Given the description of an element on the screen output the (x, y) to click on. 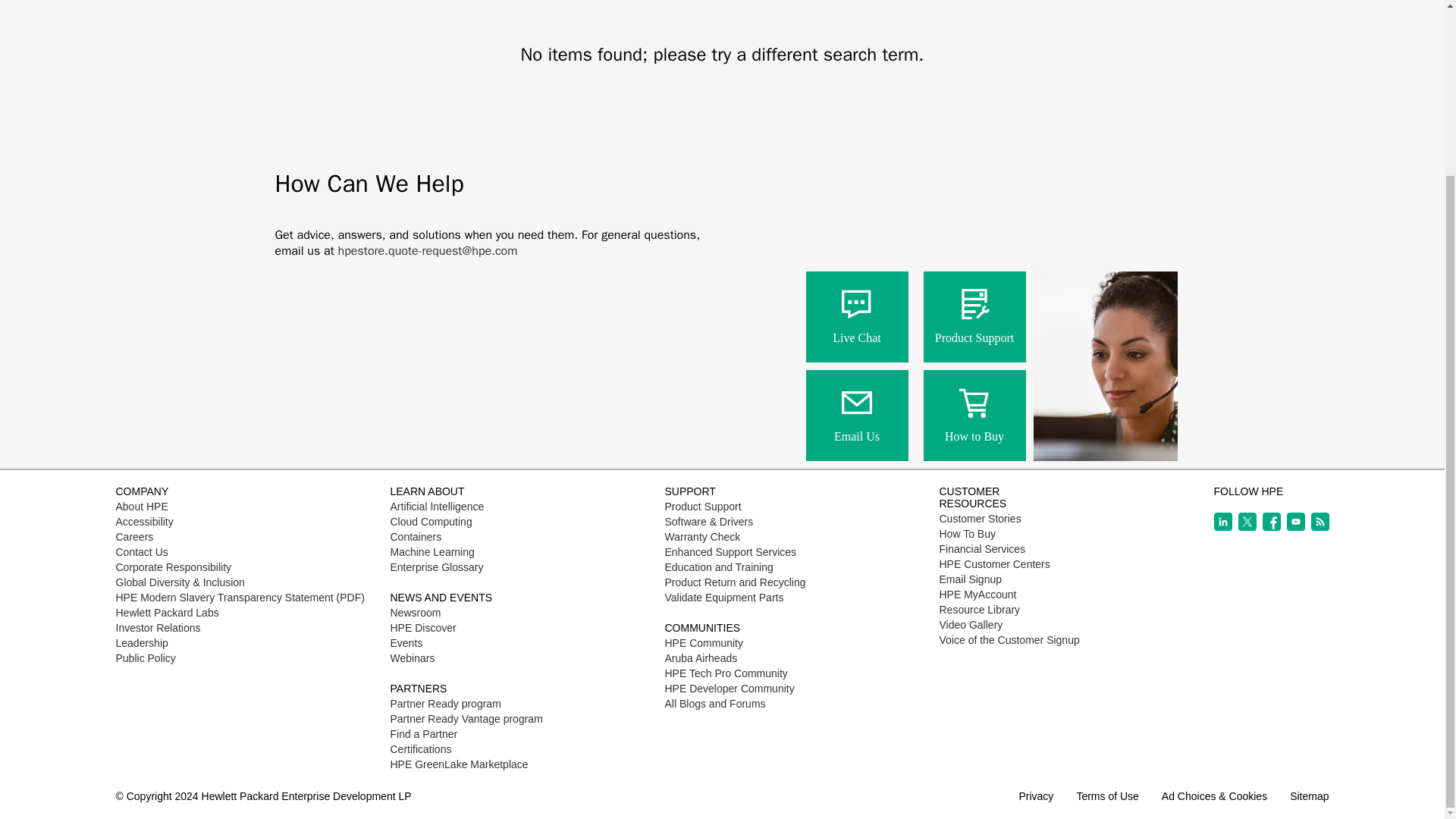
YouTube - new window (1294, 521)
LinkedIn - new window (1221, 521)
HPE RSS Feed - new window (1318, 521)
Facebook - new window (1270, 521)
X - new window (1246, 521)
